Given the description of an element on the screen output the (x, y) to click on. 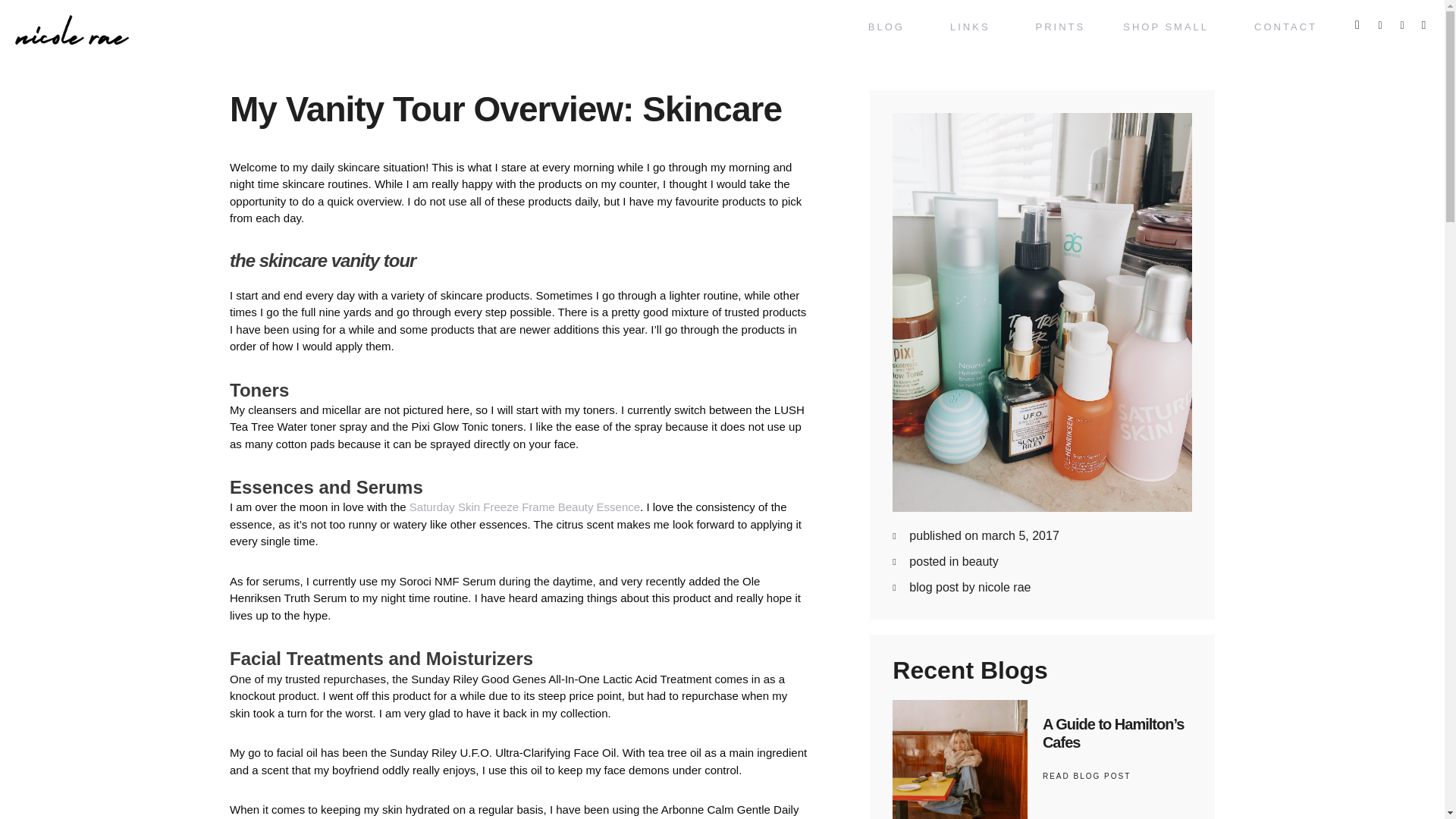
BLOG (889, 27)
PRINTS (1060, 27)
beauty (980, 561)
Saturday Skin Freeze Frame Beauty Essence (524, 506)
CONTACT (1285, 27)
LINKS (973, 27)
READ BLOG POST (1086, 776)
SHOP SMALL (1168, 27)
